Given the description of an element on the screen output the (x, y) to click on. 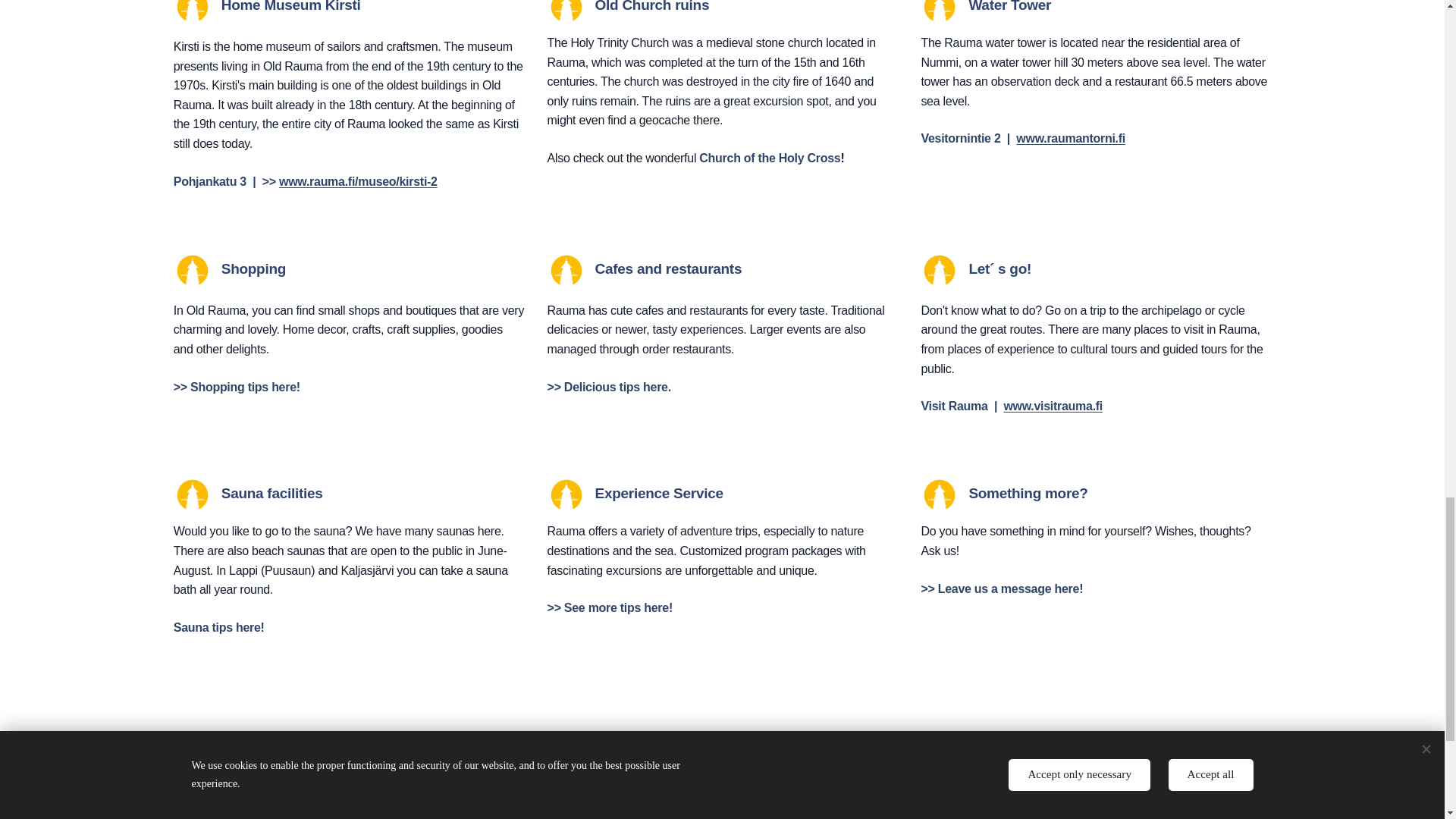
www.visitrauma.fi (1052, 405)
www.raumantorni.fi (1070, 138)
